Given the description of an element on the screen output the (x, y) to click on. 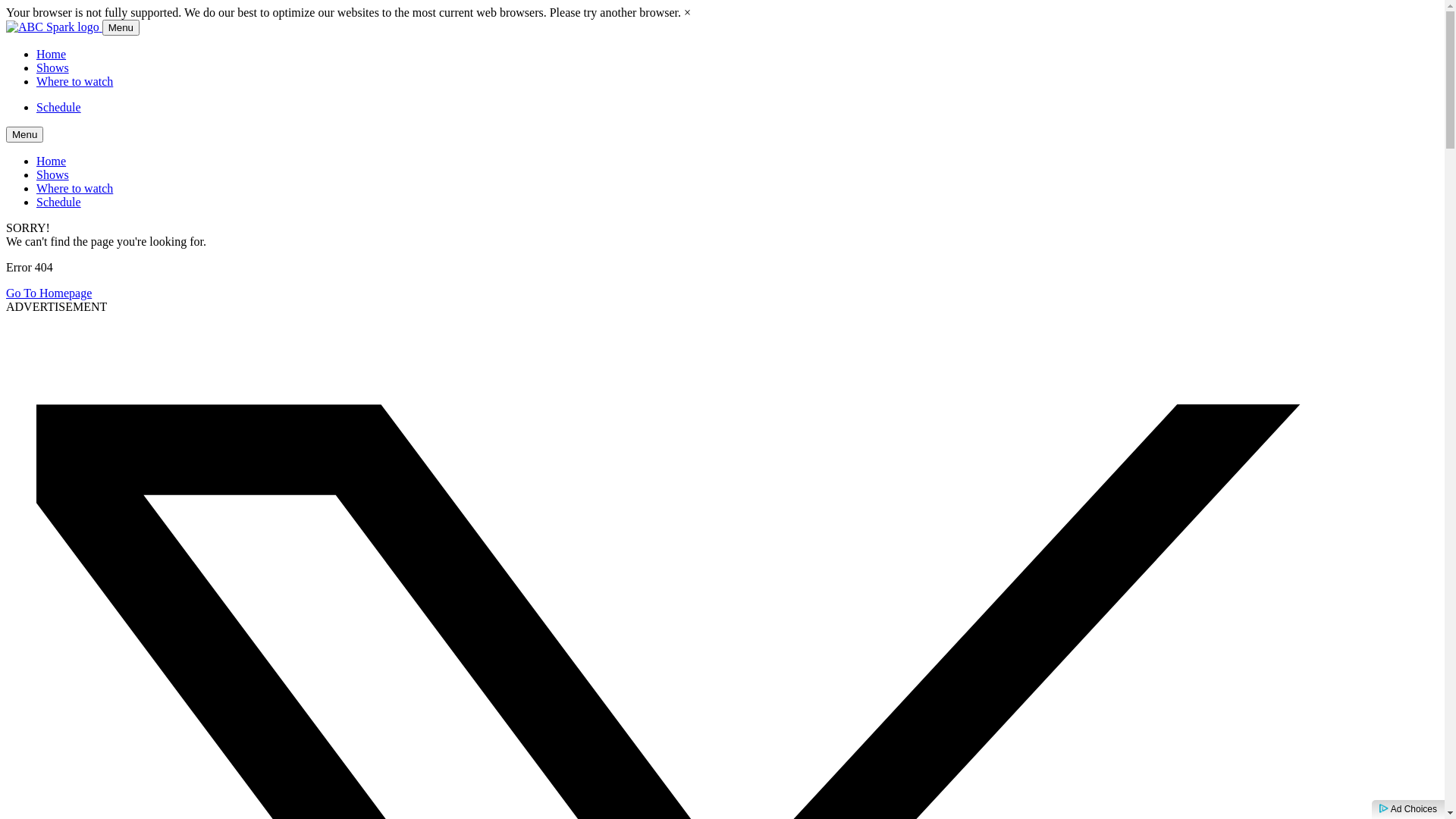
Home Element type: text (50, 53)
Shows Element type: text (52, 174)
Where to watch Element type: text (74, 81)
Go To Homepage Element type: text (48, 292)
Shows Element type: text (52, 67)
Where to watch Element type: text (74, 188)
Schedule Element type: text (58, 201)
Schedule Element type: text (58, 106)
Menu Element type: text (24, 134)
ABC Spark Element type: hover (54, 26)
Menu Element type: text (120, 27)
Home Element type: text (50, 160)
Ad Choices Element type: text (1408, 808)
